Given the description of an element on the screen output the (x, y) to click on. 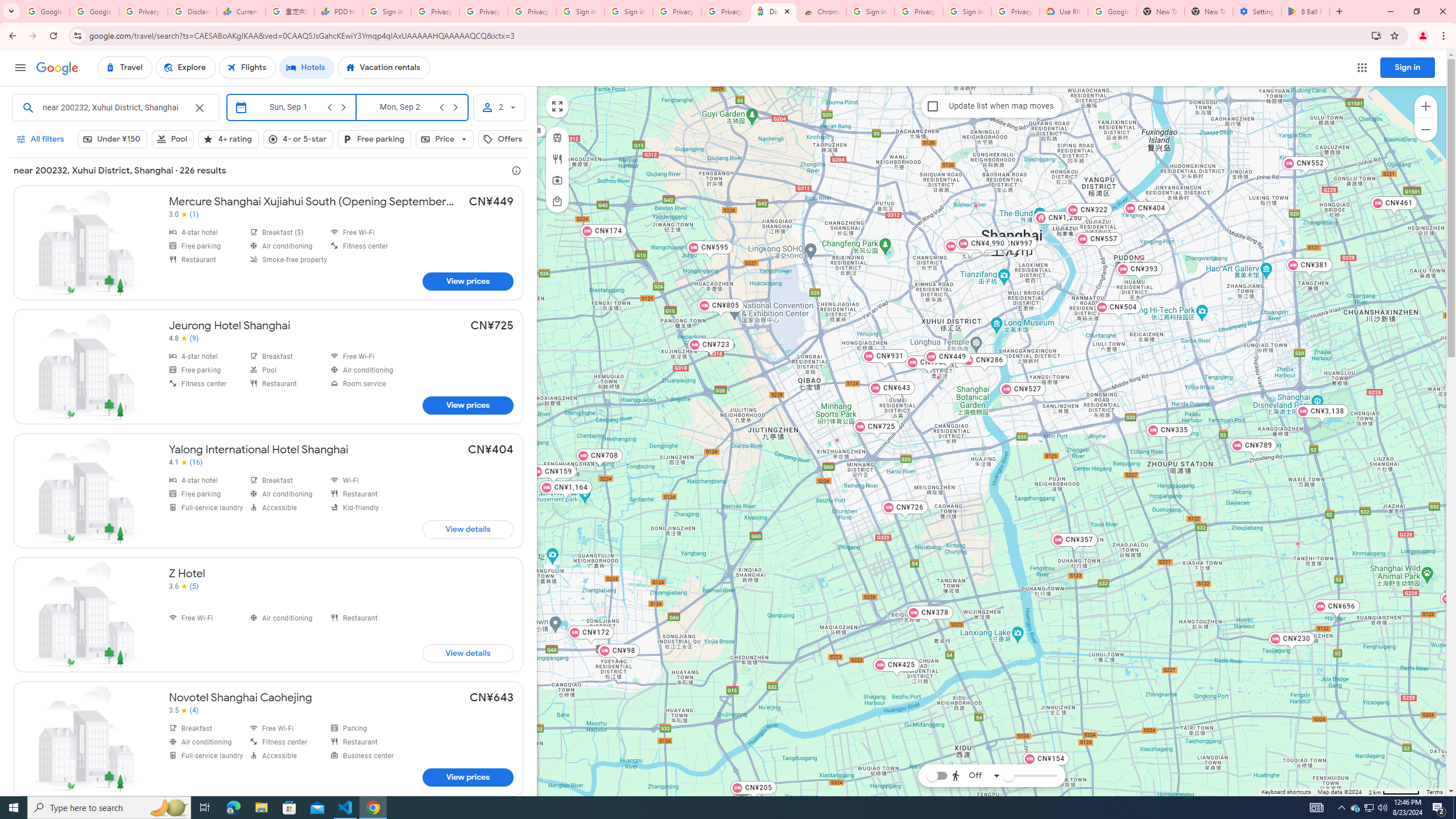
Chrome Web Store - Color themes by Chrome (822, 11)
Travel (124, 67)
View prices for Jeurong Hotel Shanghai (467, 405)
Sign in - Google Accounts (628, 11)
Areas for shopping (556, 201)
Toggle reachability layer (936, 775)
Explore (185, 67)
